Given the description of an element on the screen output the (x, y) to click on. 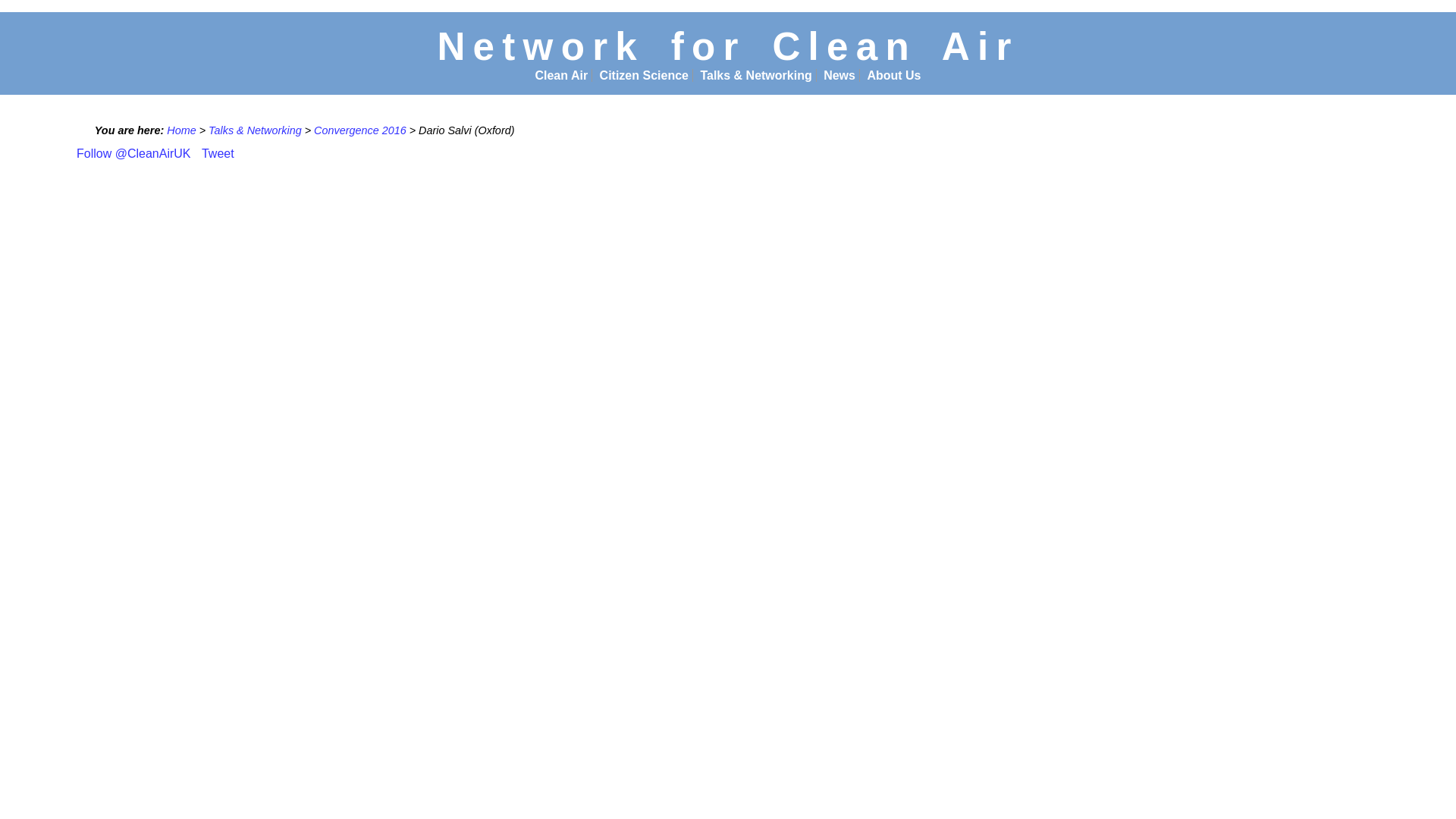
News (840, 74)
About Us (893, 74)
Clean Air (561, 74)
Citizen Science (643, 74)
Tweet (218, 153)
Home (181, 130)
Network for Clean Air (726, 46)
Convergence 2016 (360, 130)
